Given the description of an element on the screen output the (x, y) to click on. 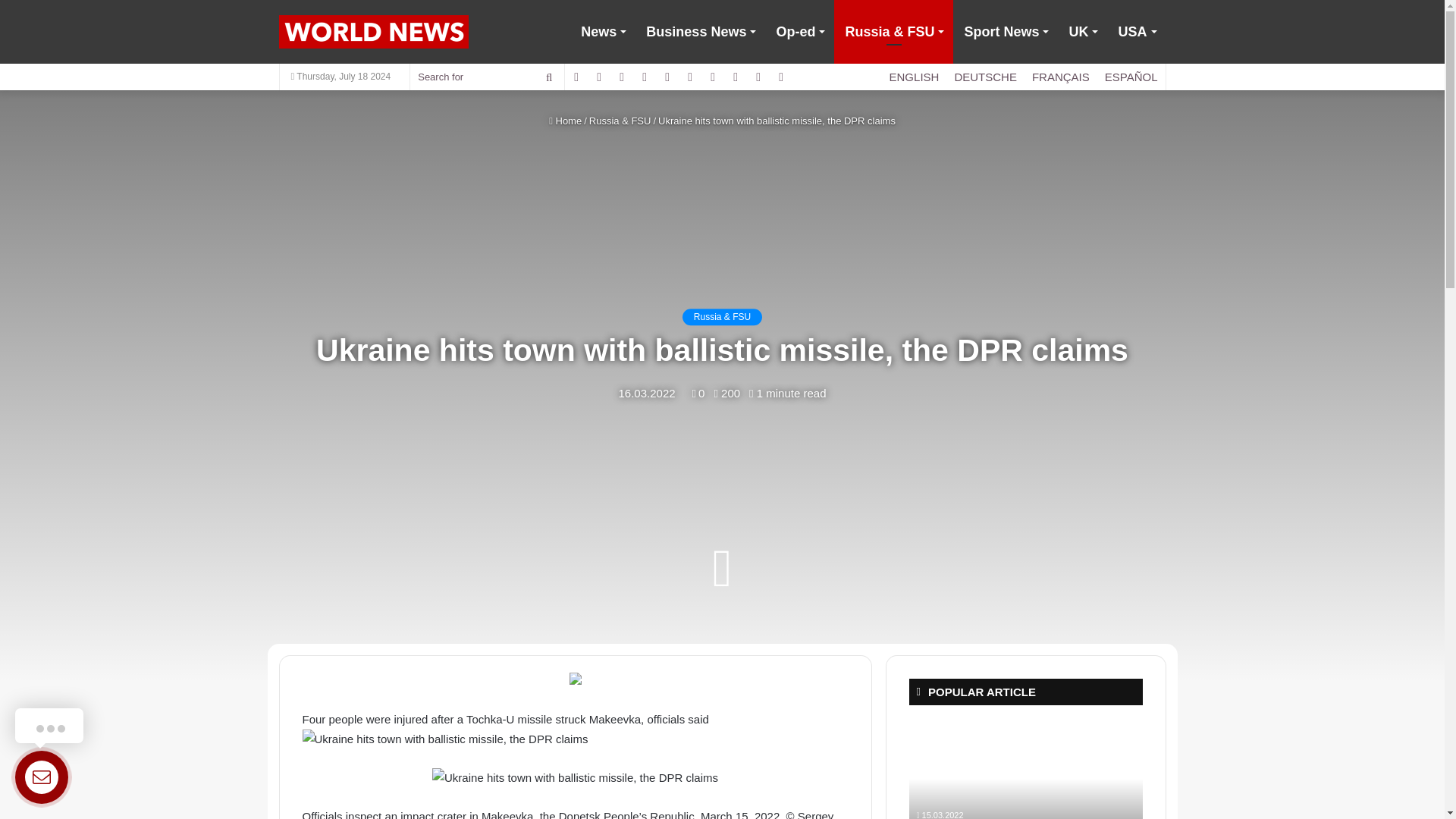
Facebook (667, 76)
Odnoklassniki (758, 76)
Sport News (1005, 31)
YouTube (712, 76)
Home (564, 120)
ENGLISH (914, 76)
Sidebar (599, 76)
Search for (549, 76)
Twitter (689, 76)
Log In (644, 76)
News (602, 31)
Telegram (781, 76)
UK (1082, 31)
Search for (487, 76)
vk.com (734, 76)
